Given the description of an element on the screen output the (x, y) to click on. 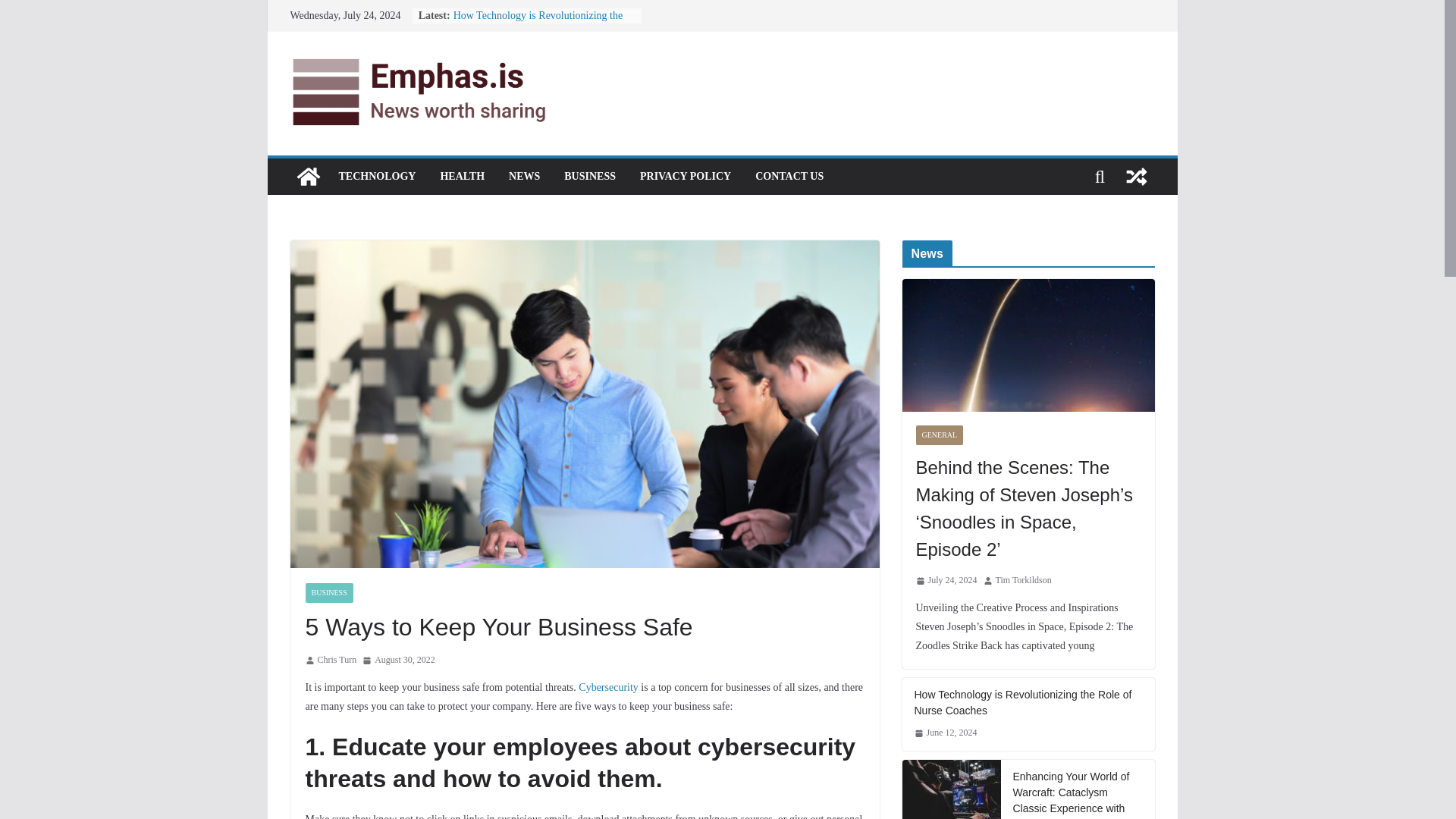
How Technology is Revolutionizing the Role of Nurse Coaches (537, 22)
CONTACT US (789, 175)
July 24, 2024 (945, 580)
View a random post (1136, 176)
Emphas.is (307, 176)
Chris Turn (336, 660)
5:27 pm (398, 660)
Cybersecurity (608, 686)
TECHNOLOGY (375, 175)
August 30, 2022 (398, 660)
How Technology is Revolutionizing the Role of Nurse Coaches (537, 22)
Chris Turn (336, 660)
HEALTH (461, 175)
GENERAL (939, 435)
PRIVACY POLICY (685, 175)
